Given the description of an element on the screen output the (x, y) to click on. 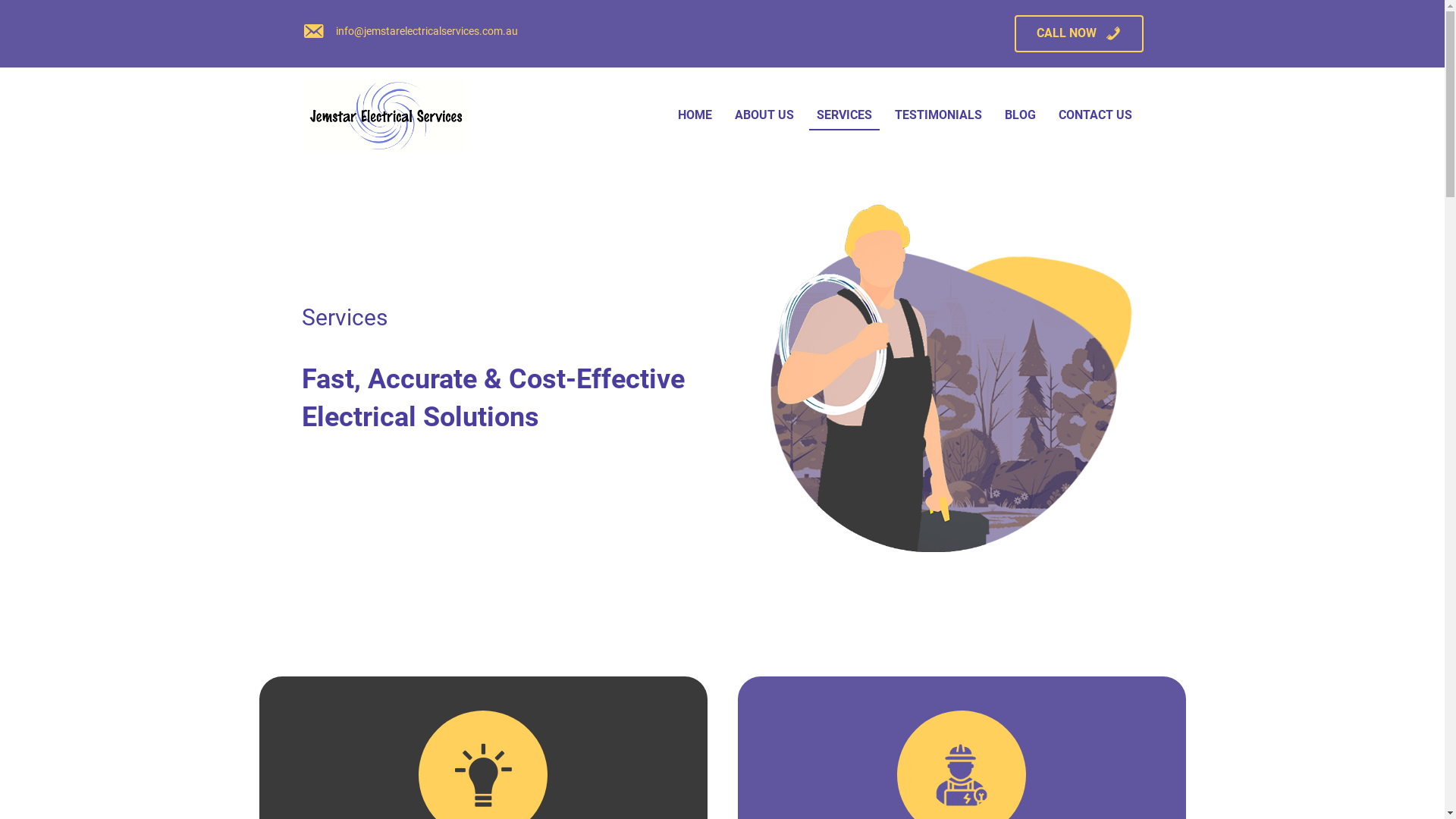
ABOUT US Element type: text (764, 115)
CONTACT US Element type: text (1095, 115)
ezgif.com-crop Element type: hover (385, 115)
BLOG Element type: text (1020, 115)
services Element type: hover (938, 391)
info@jemstarelectricalservices.com.au Element type: text (426, 31)
HOME Element type: text (694, 115)
SERVICES Element type: text (844, 115)
CALL NOW Element type: text (1078, 33)
TESTIMONIALS Element type: text (938, 115)
